Given the description of an element on the screen output the (x, y) to click on. 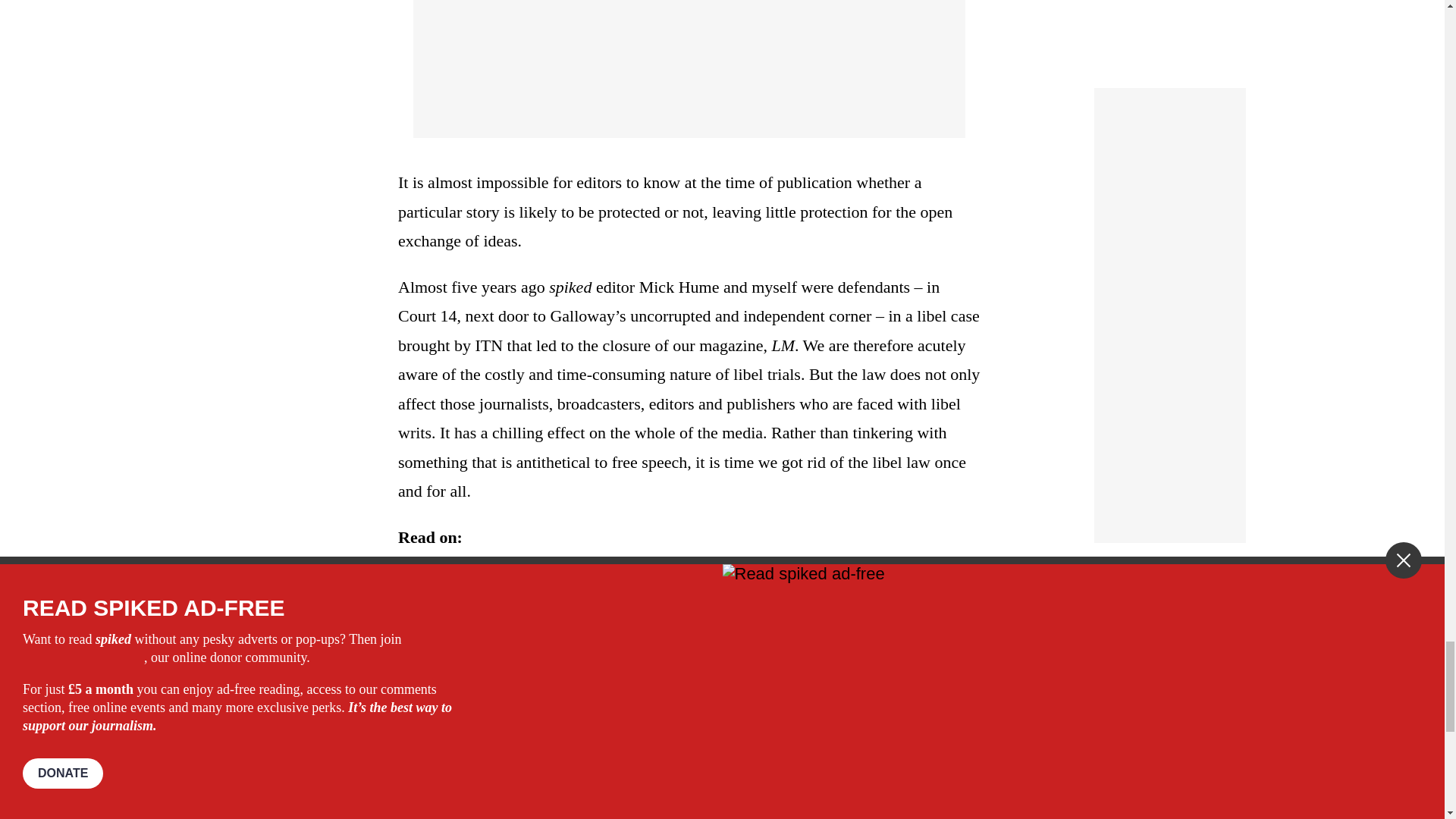
Share on Facebook (448, 740)
Share on Whatsapp (494, 740)
Share on Twitter (471, 740)
Share on Email (518, 740)
